Given the description of an element on the screen output the (x, y) to click on. 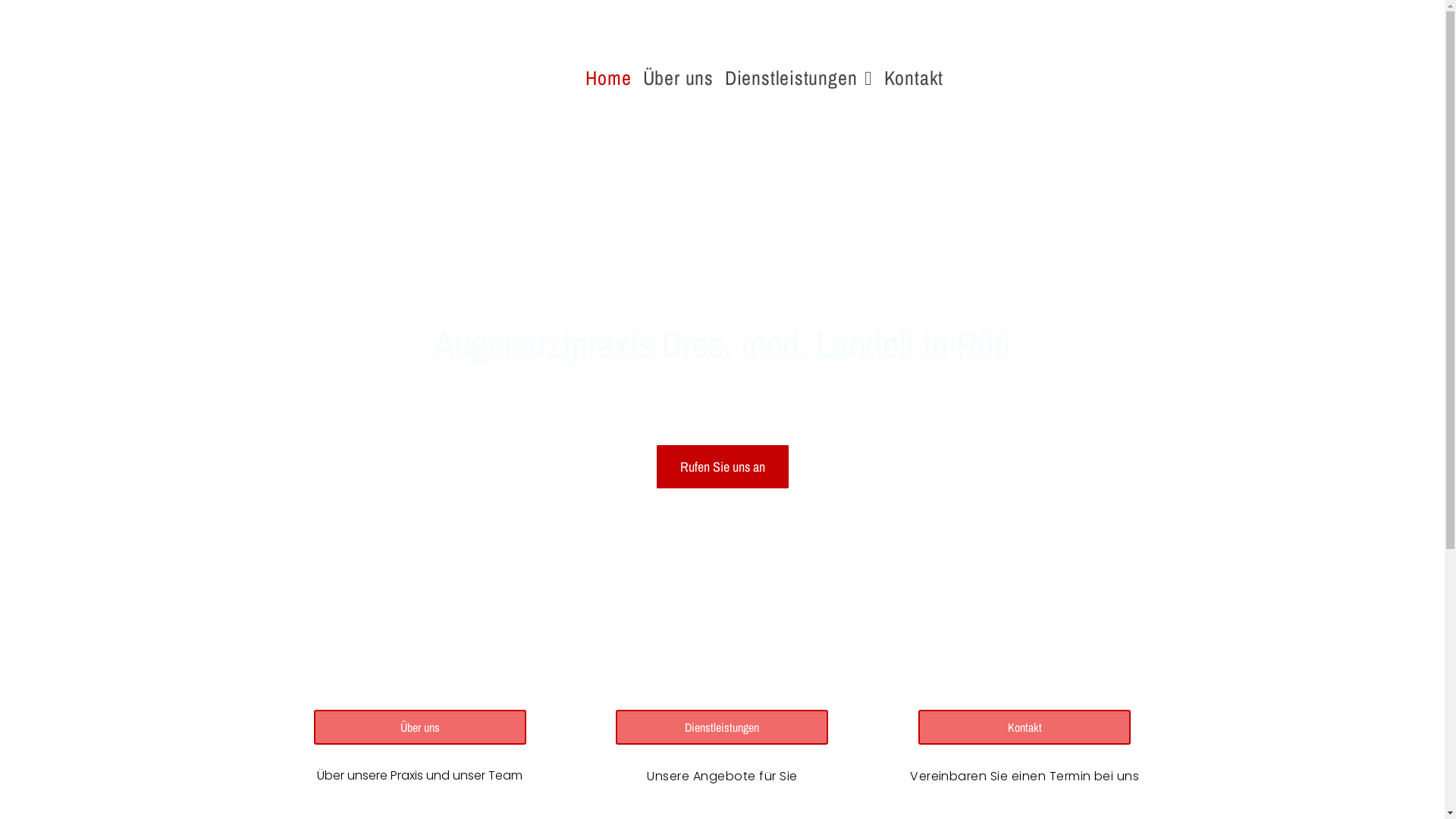
Kontakt Element type: text (1024, 726)
Kontakt Element type: text (913, 77)
Home Element type: text (607, 77)
Dienstleistungen Element type: text (721, 726)
Rufen Sie uns an Element type: text (722, 466)
Dienstleistungen Element type: text (798, 77)
